Given the description of an element on the screen output the (x, y) to click on. 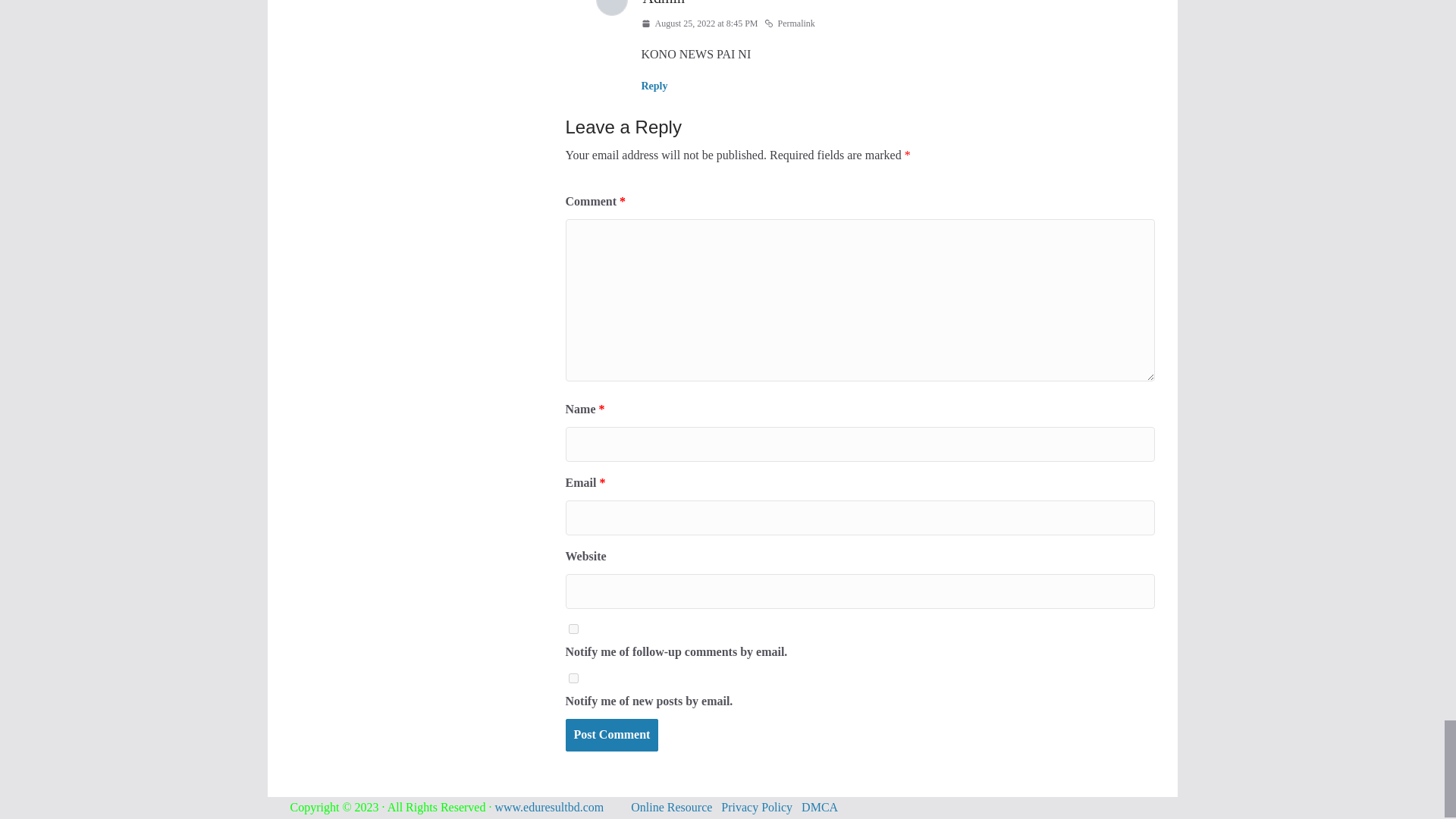
subscribe (573, 678)
Post Comment (612, 735)
subscribe (573, 628)
